Given the description of an element on the screen output the (x, y) to click on. 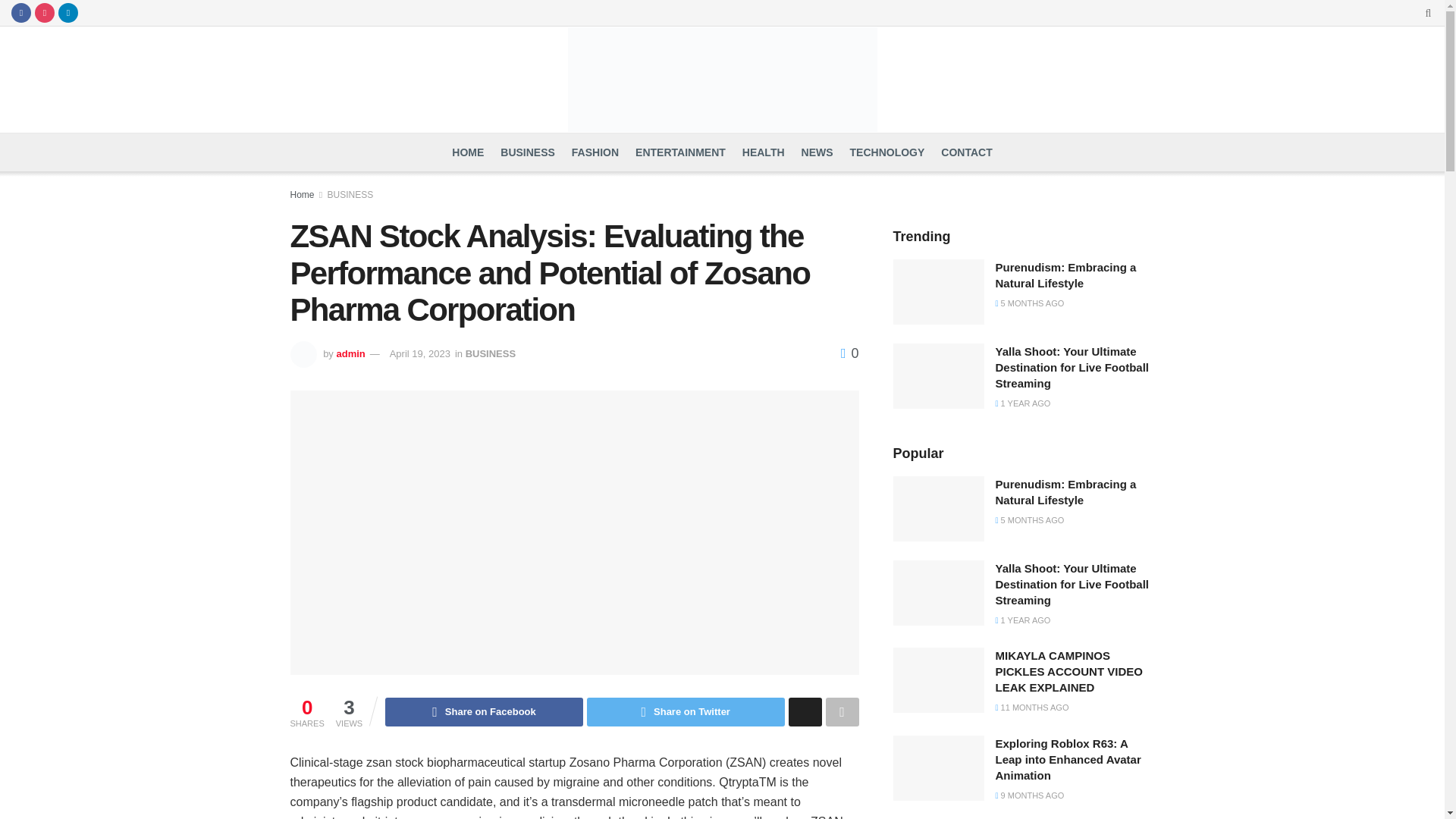
HEALTH (763, 151)
FASHION (595, 151)
BUSINESS (350, 194)
April 19, 2023 (419, 353)
NEWS (817, 151)
ENTERTAINMENT (679, 151)
TECHNOLOGY (887, 151)
HOME (467, 151)
BUSINESS (527, 151)
BUSINESS (490, 353)
